Given the description of an element on the screen output the (x, y) to click on. 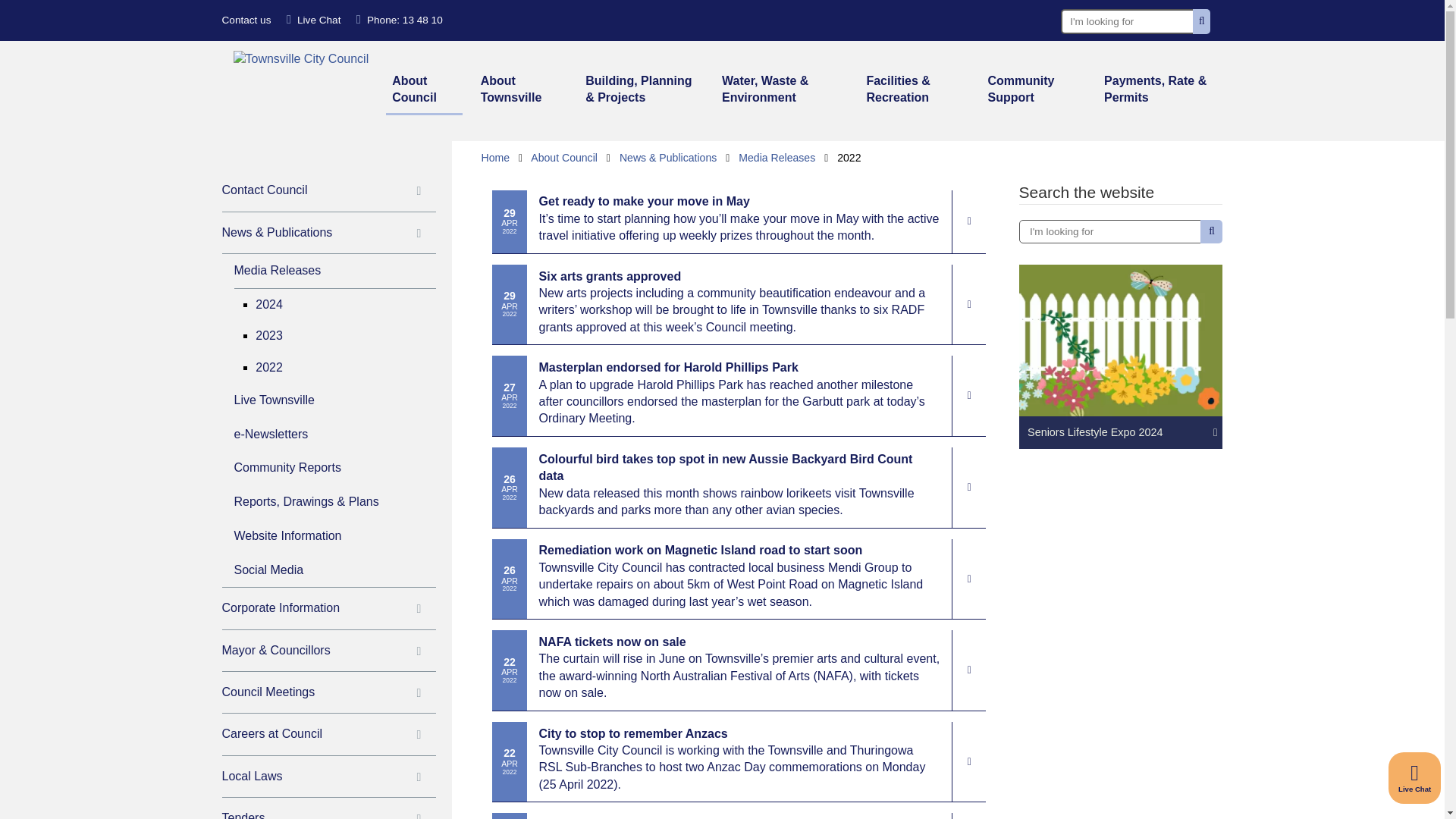
Live Chat (1415, 777)
Live Chat (313, 20)
Phone: 13 48 10 (399, 20)
About Council (424, 90)
Contact us (245, 20)
Chat with a Townsville City Council representative. (313, 20)
Chat with a Townsville City Council representative. (1415, 777)
